Given the description of an element on the screen output the (x, y) to click on. 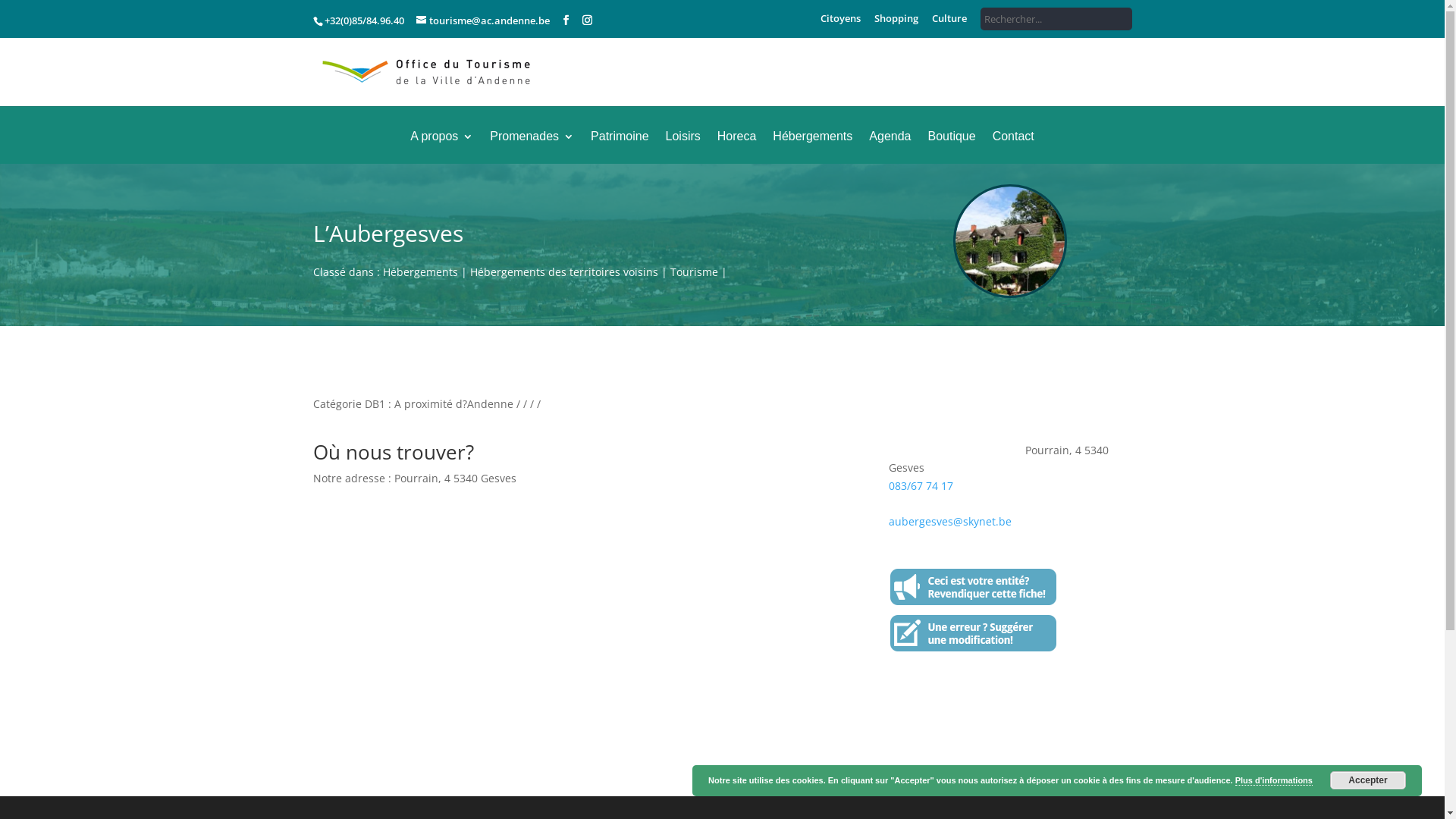
aubergesves@skynet.be Element type: text (949, 521)
Culture Element type: text (948, 22)
Agenda Element type: text (889, 147)
Plus d'informations Element type: text (1273, 780)
083/67 74 17 Element type: text (920, 485)
Boutique Element type: text (951, 147)
Patrimoine Element type: text (619, 147)
Loisirs Element type: text (682, 147)
Promenades Element type: text (531, 147)
Tourisme Element type: text (694, 271)
Citoyens Element type: text (840, 22)
Horeca Element type: text (736, 147)
/ Element type: text (1129, 86)
Accepter Element type: text (1367, 780)
tourisme@ac.andenne.be Element type: text (482, 20)
A propos Element type: text (441, 147)
Shopping Element type: text (895, 22)
Contact Element type: text (1013, 147)
